Given the description of an element on the screen output the (x, y) to click on. 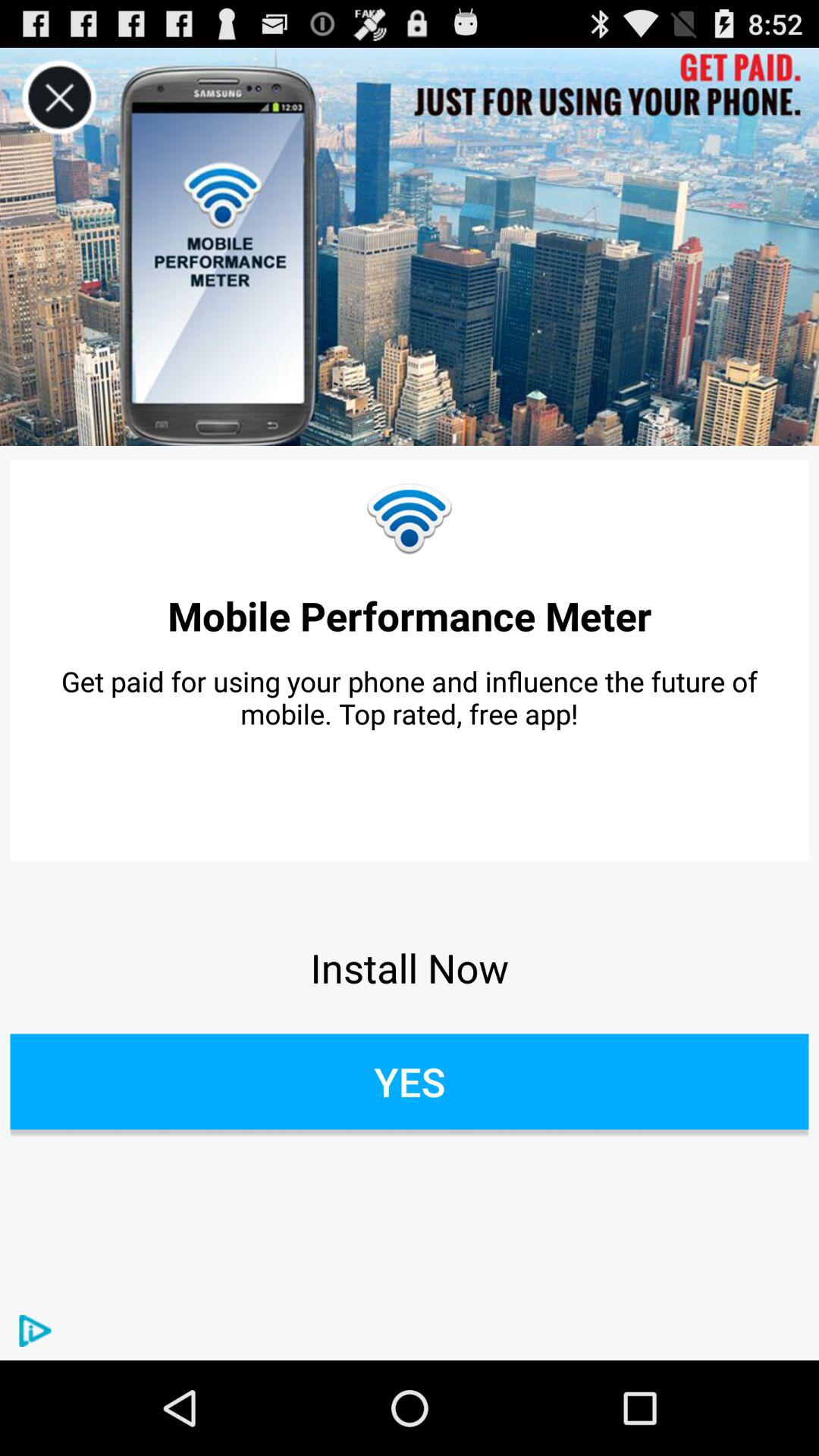
turn off the get paid for item (409, 697)
